Given the description of an element on the screen output the (x, y) to click on. 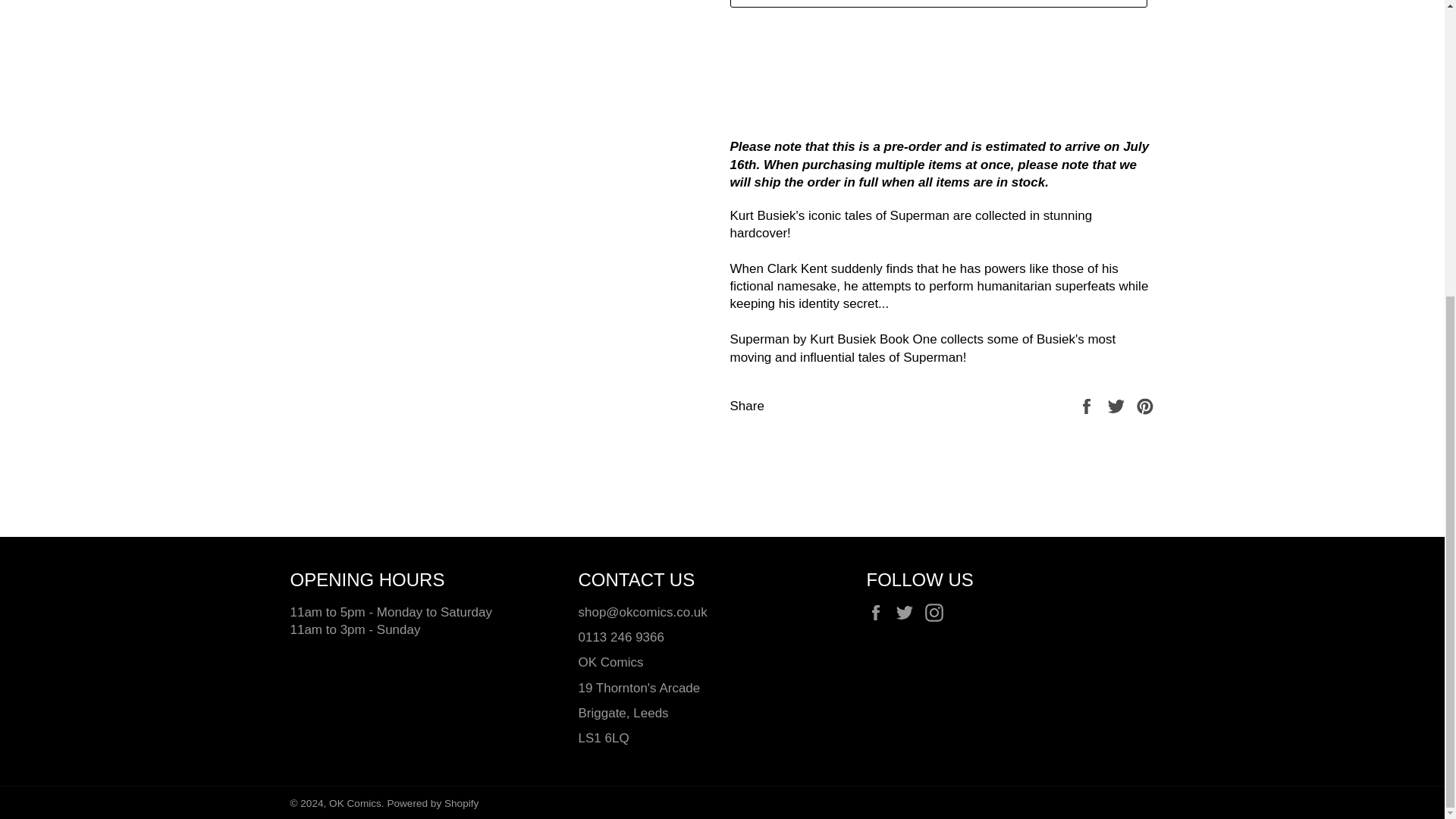
Tweet on Twitter (1117, 405)
OK Comics on Facebook (878, 612)
Powered by Shopify (433, 803)
Pin on Pinterest (1144, 405)
Facebook (878, 612)
Twitter (908, 612)
OK Comics on Instagram (937, 612)
OK Comics on Twitter (908, 612)
Instagram (937, 612)
Tweet on Twitter (1117, 405)
ADD TO CART (938, 3)
Share on Facebook (1088, 405)
OK Comics (355, 803)
Share on Facebook (1088, 405)
Pin on Pinterest (1144, 405)
